Given the description of an element on the screen output the (x, y) to click on. 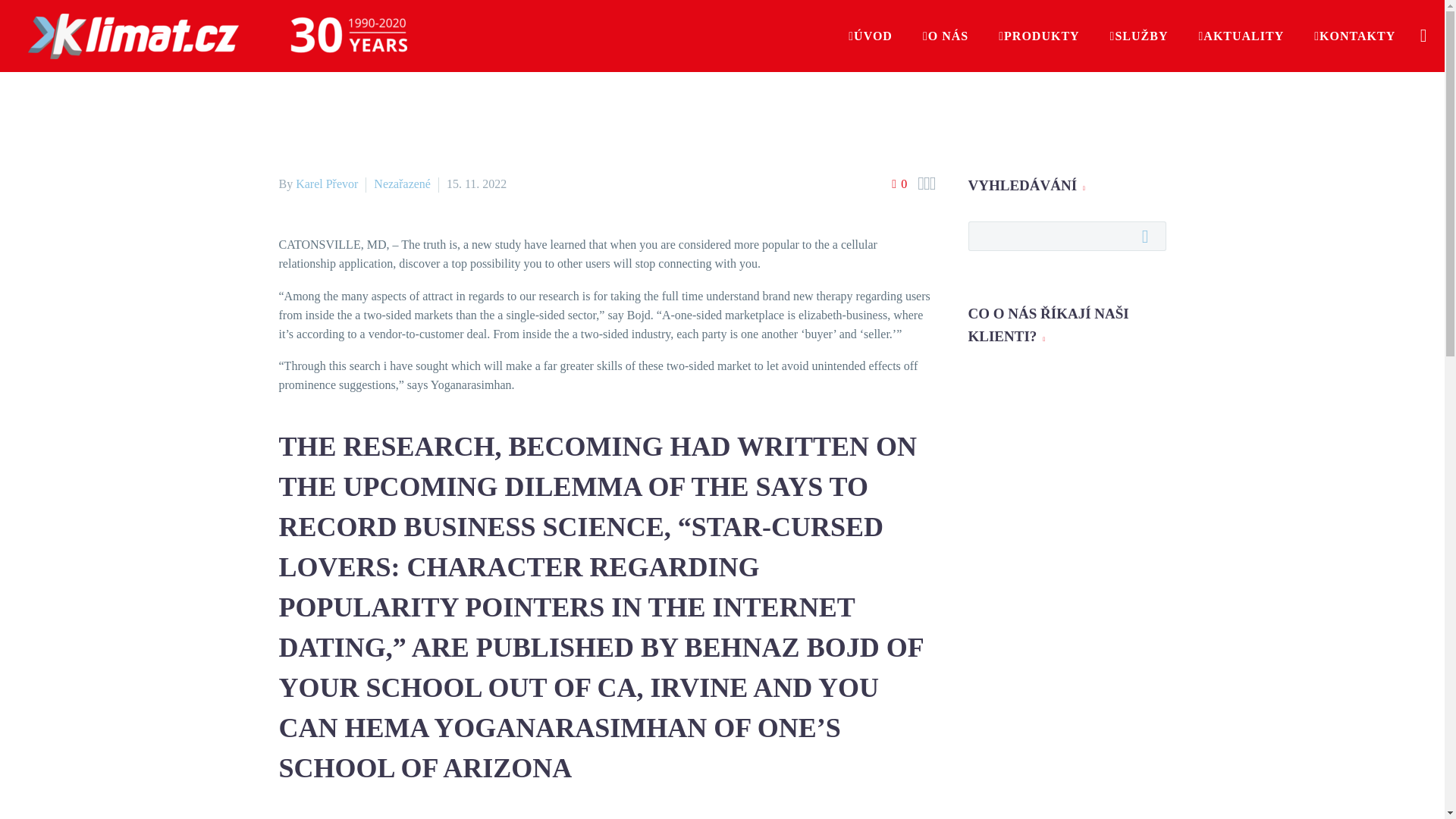
PRODUKTY (1039, 36)
AKTUALITY (1240, 36)
KONTAKTY (1354, 36)
